Given the description of an element on the screen output the (x, y) to click on. 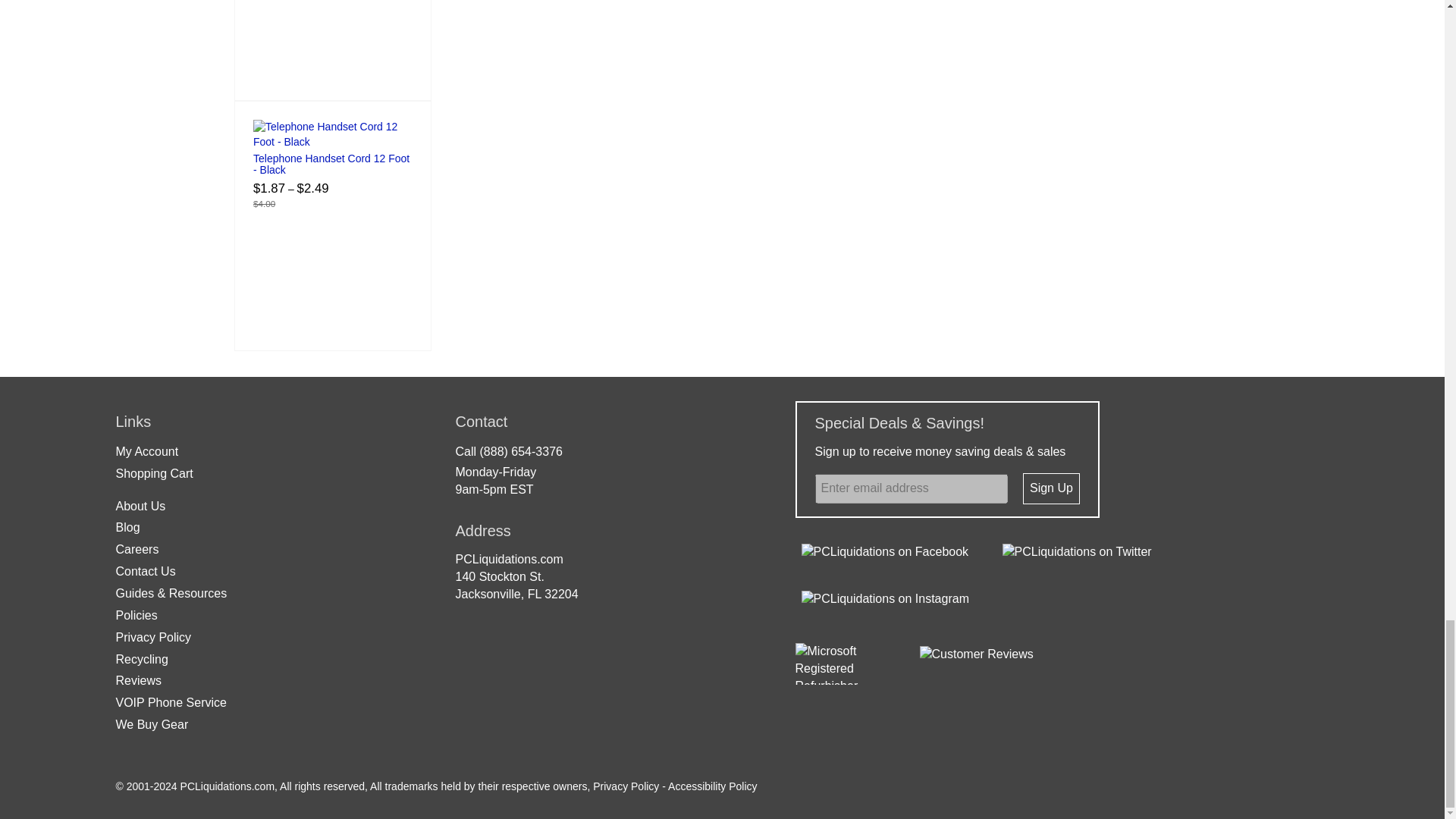
Sign Up (1051, 488)
